Given the description of an element on the screen output the (x, y) to click on. 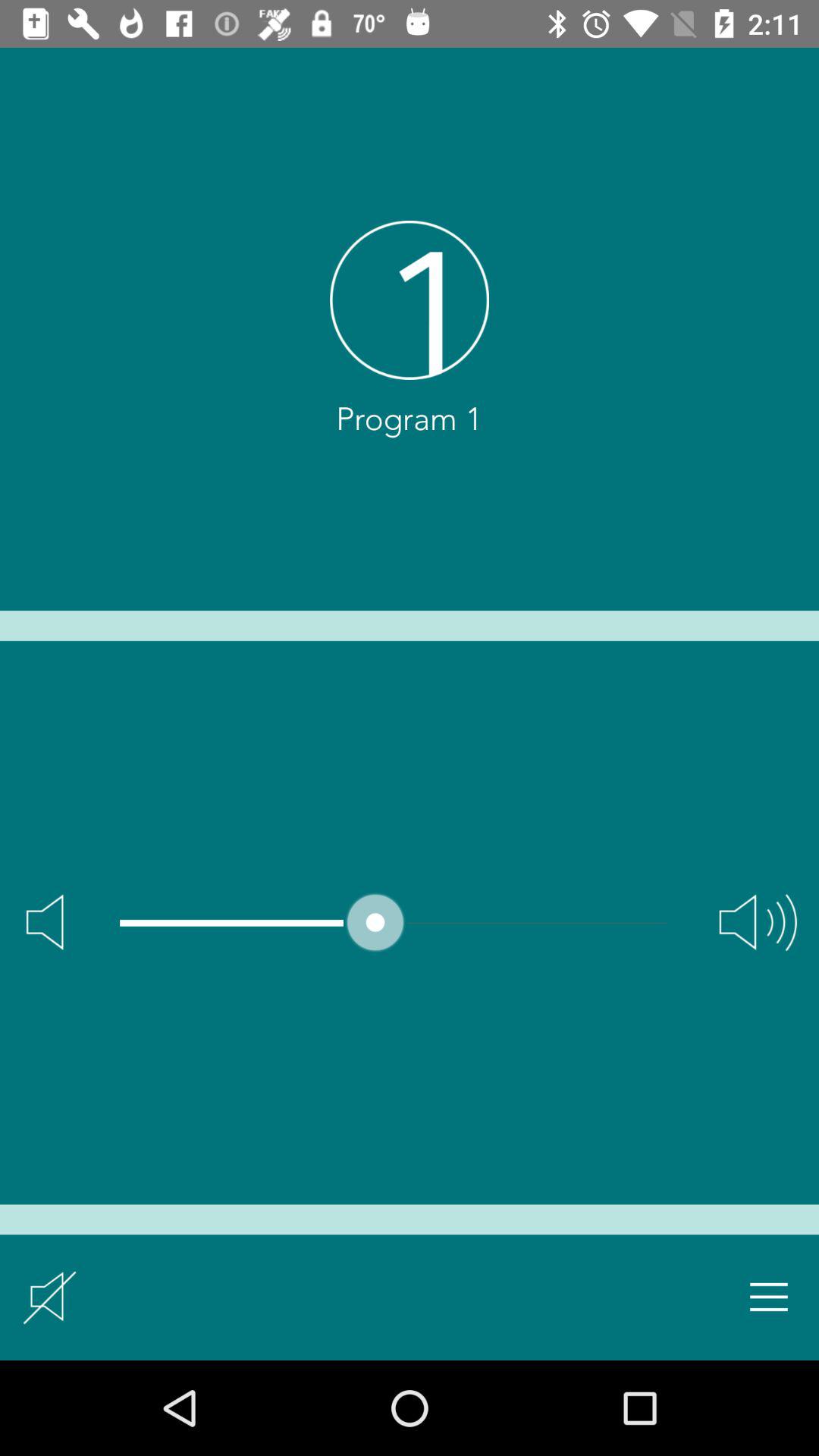
expand menu (768, 1297)
